Given the description of an element on the screen output the (x, y) to click on. 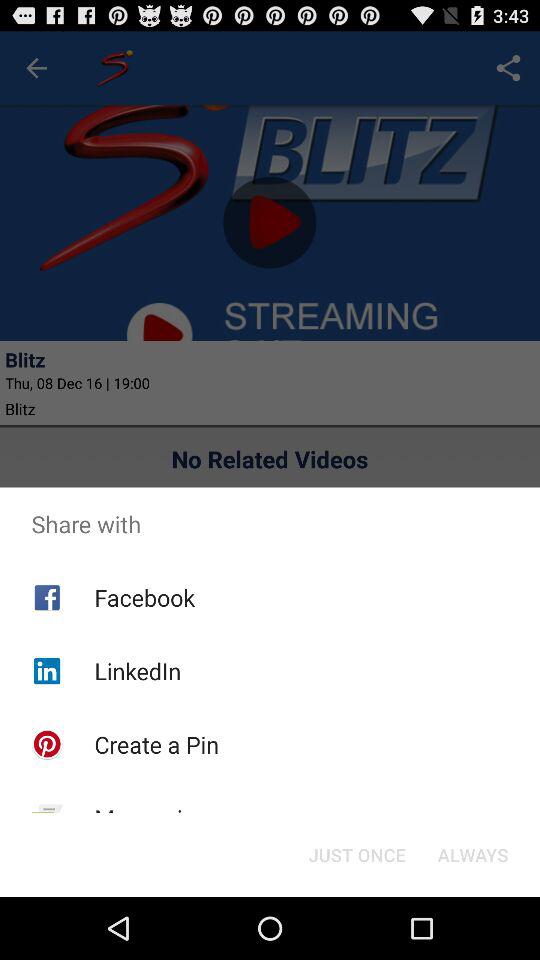
swipe until the facebook (144, 597)
